Given the description of an element on the screen output the (x, y) to click on. 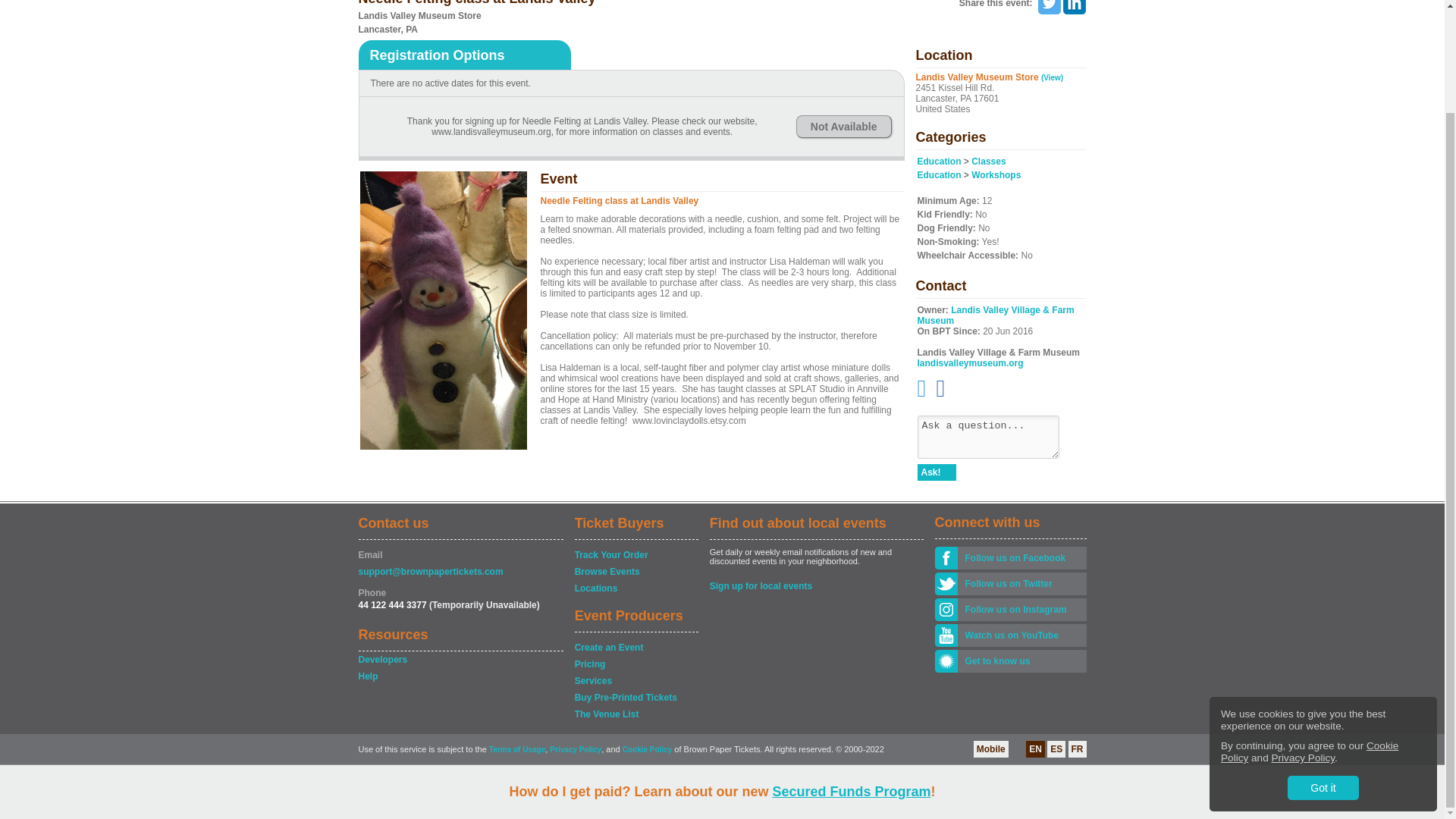
Education (938, 174)
Got it (1322, 668)
Secured Funds Program (850, 671)
Workshops (995, 174)
Submit to Twitter! (1048, 7)
Help (460, 676)
landisvalleymuseum.org (970, 362)
Track Your Order (636, 554)
Developers (460, 659)
Ask! (936, 472)
